Given the description of an element on the screen output the (x, y) to click on. 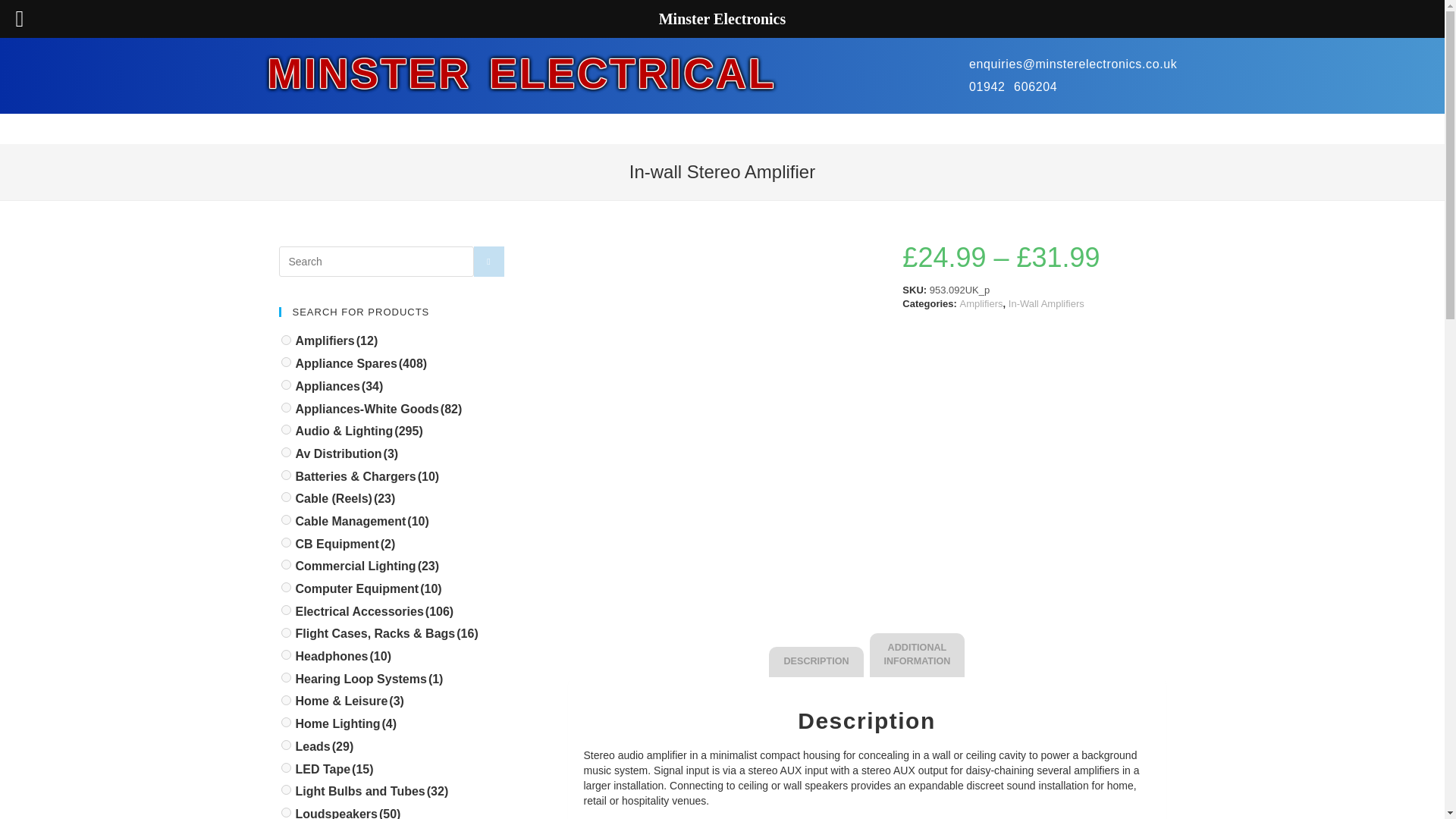
2538 (285, 339)
3645 (285, 384)
3613 (285, 407)
2481 (285, 722)
3697 (285, 587)
2433 (285, 633)
2687 (285, 519)
3506 (285, 610)
2456 (285, 564)
DESCRIPTION (815, 662)
